Given the description of an element on the screen output the (x, y) to click on. 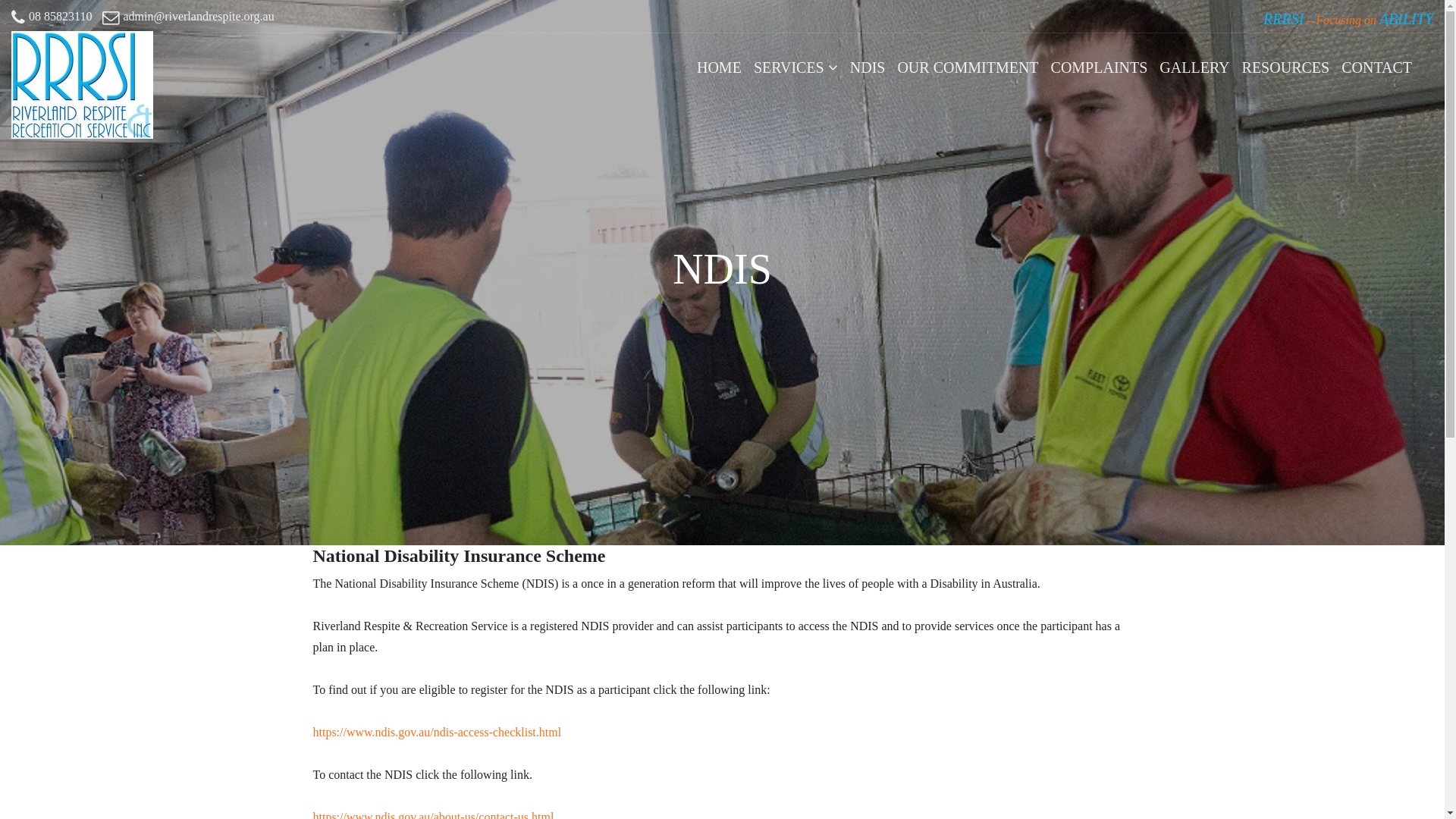
OUR COMMITMENT Element type: text (967, 67)
RESOURCES Element type: text (1286, 67)
https://www.ndis.gov.au/ndis-access-checklist.html Element type: text (436, 731)
NDIS Element type: text (867, 67)
CONTACT Element type: text (1376, 67)
SERVICES Element type: text (795, 67)
GALLERY Element type: text (1194, 67)
COMPLAINTS Element type: text (1099, 67)
Riverland Respite & Recreation Service Inc Element type: hover (82, 67)
HOME Element type: text (718, 67)
